Given the description of an element on the screen output the (x, y) to click on. 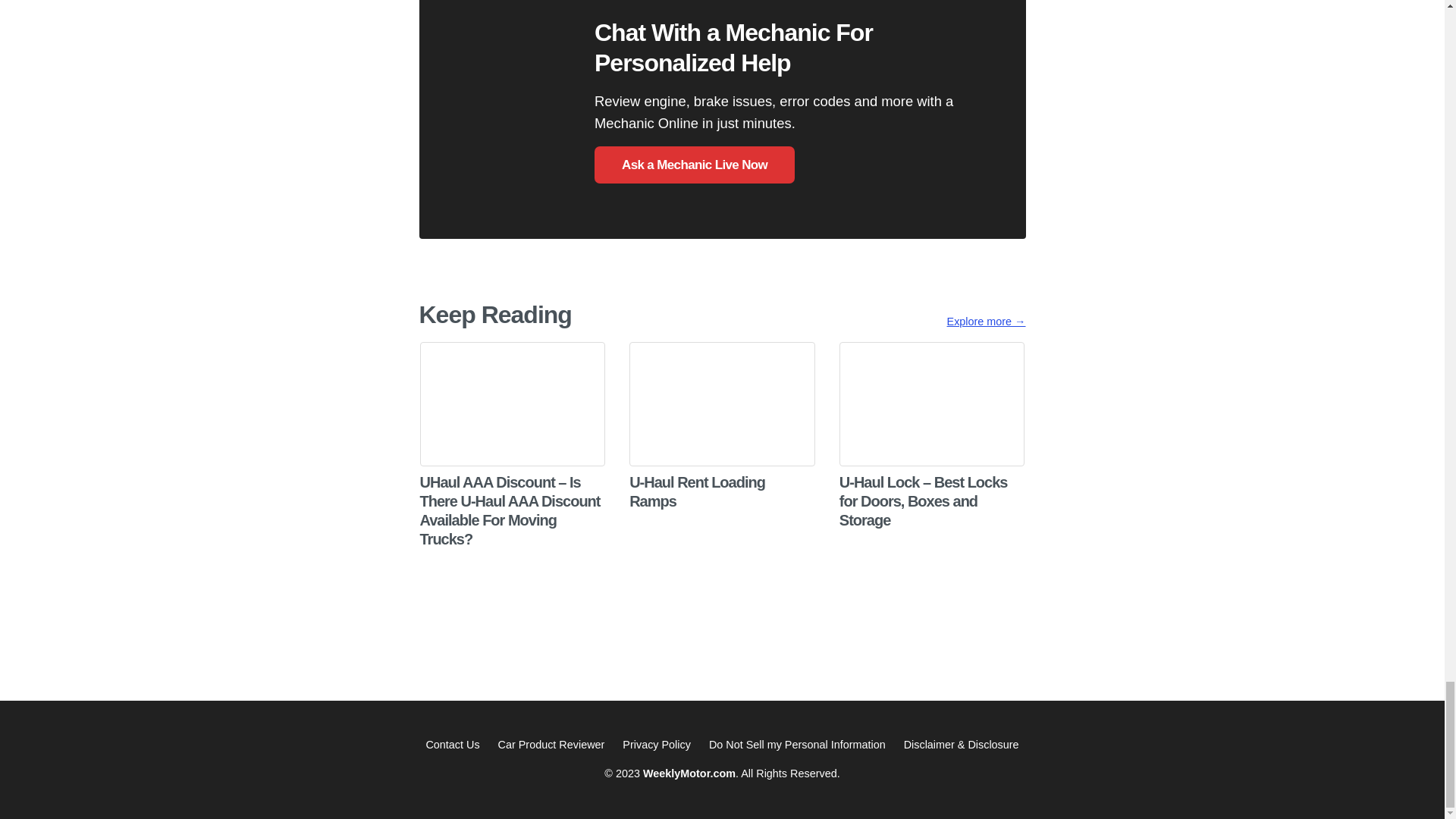
Do Not Sell my Personal Information (797, 744)
Ask a Mechanic Live Now (694, 164)
Contact Us (452, 744)
U-Haul Rent Loading Ramps (721, 441)
WeeklyMotor.com (689, 773)
U-Haul Rent Loading Ramps (721, 441)
Car Product Reviewer (551, 744)
Privacy Policy (656, 744)
